Given the description of an element on the screen output the (x, y) to click on. 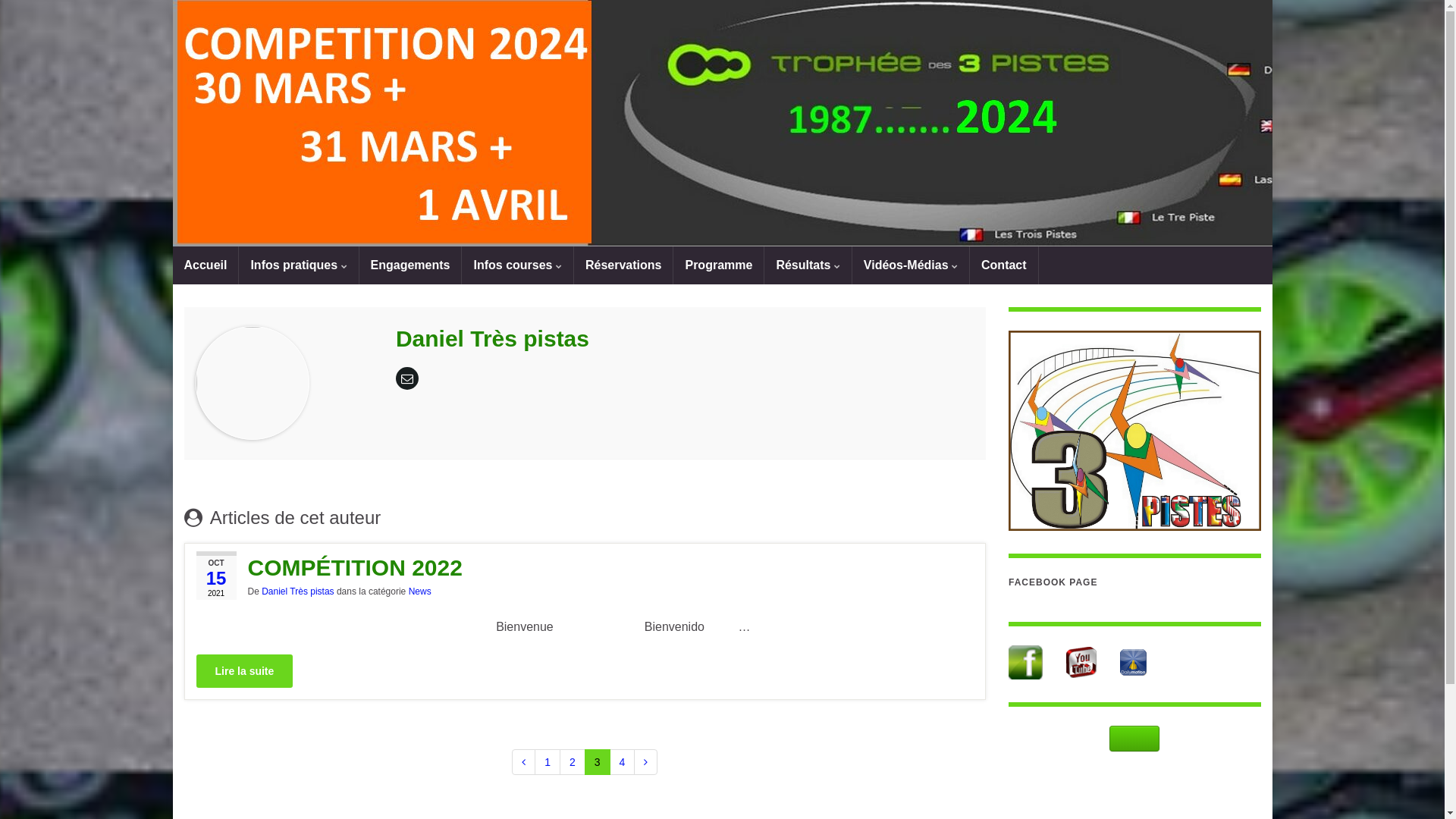
Programme Element type: text (718, 265)
2 Element type: text (572, 762)
Infos courses Element type: text (516, 265)
News Element type: text (419, 591)
Contact Element type: text (1003, 265)
4 Element type: text (622, 762)
Infos pratiques Element type: text (297, 265)
Accueil Element type: text (205, 265)
1 Element type: text (547, 762)
Engagements Element type: text (410, 265)
Lire la suite Element type: text (243, 670)
  Element type: text (722, 123)
